Given the description of an element on the screen output the (x, y) to click on. 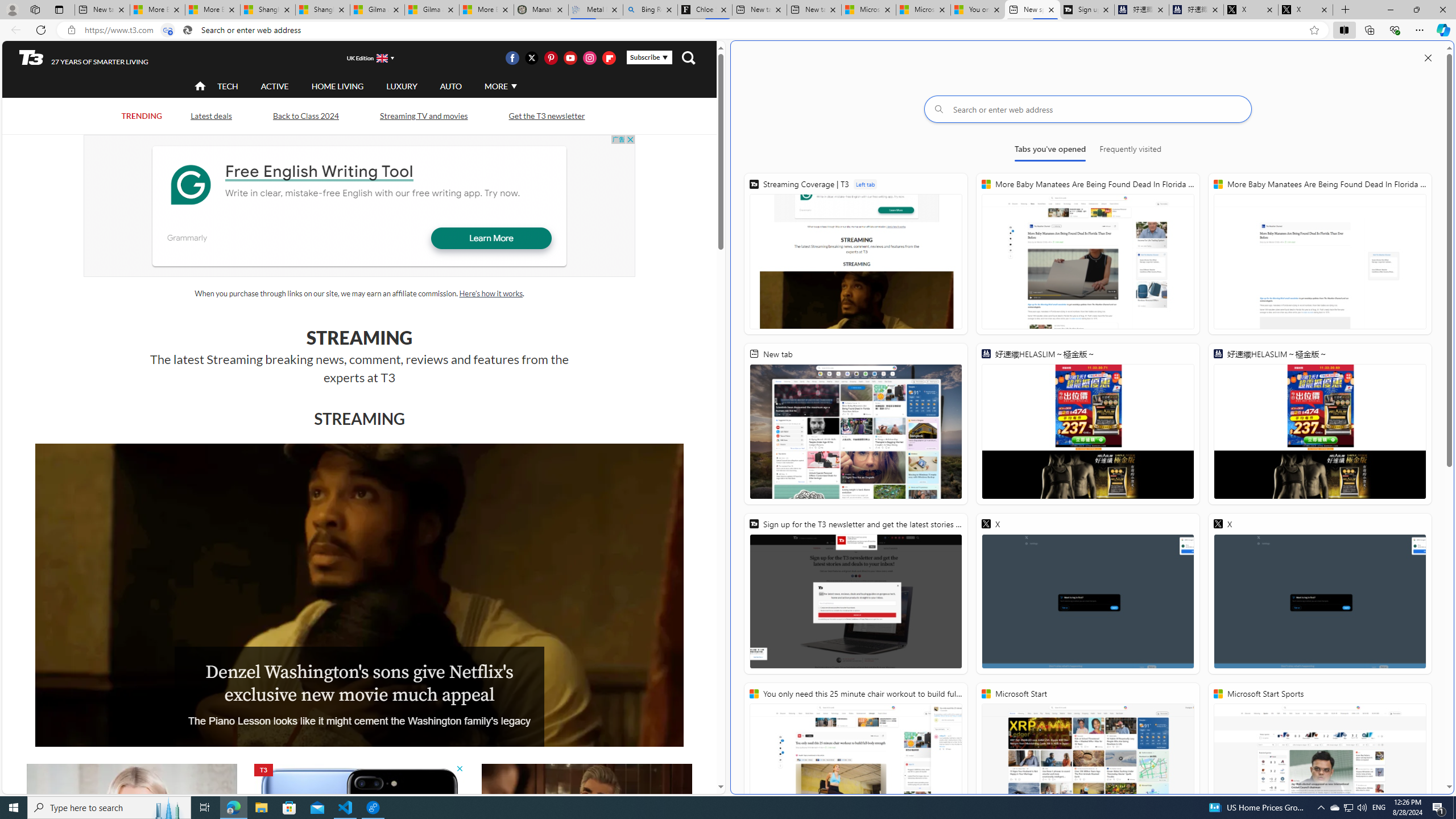
AUTO (450, 86)
Close split screen (1428, 57)
Get the T3 newsletter (546, 115)
Subscribe (649, 56)
Bing Real Estate - Home sales and rental listings (650, 9)
Class: icon-svg (608, 57)
TECH (227, 85)
Class: navigation__item (199, 86)
